Given the description of an element on the screen output the (x, y) to click on. 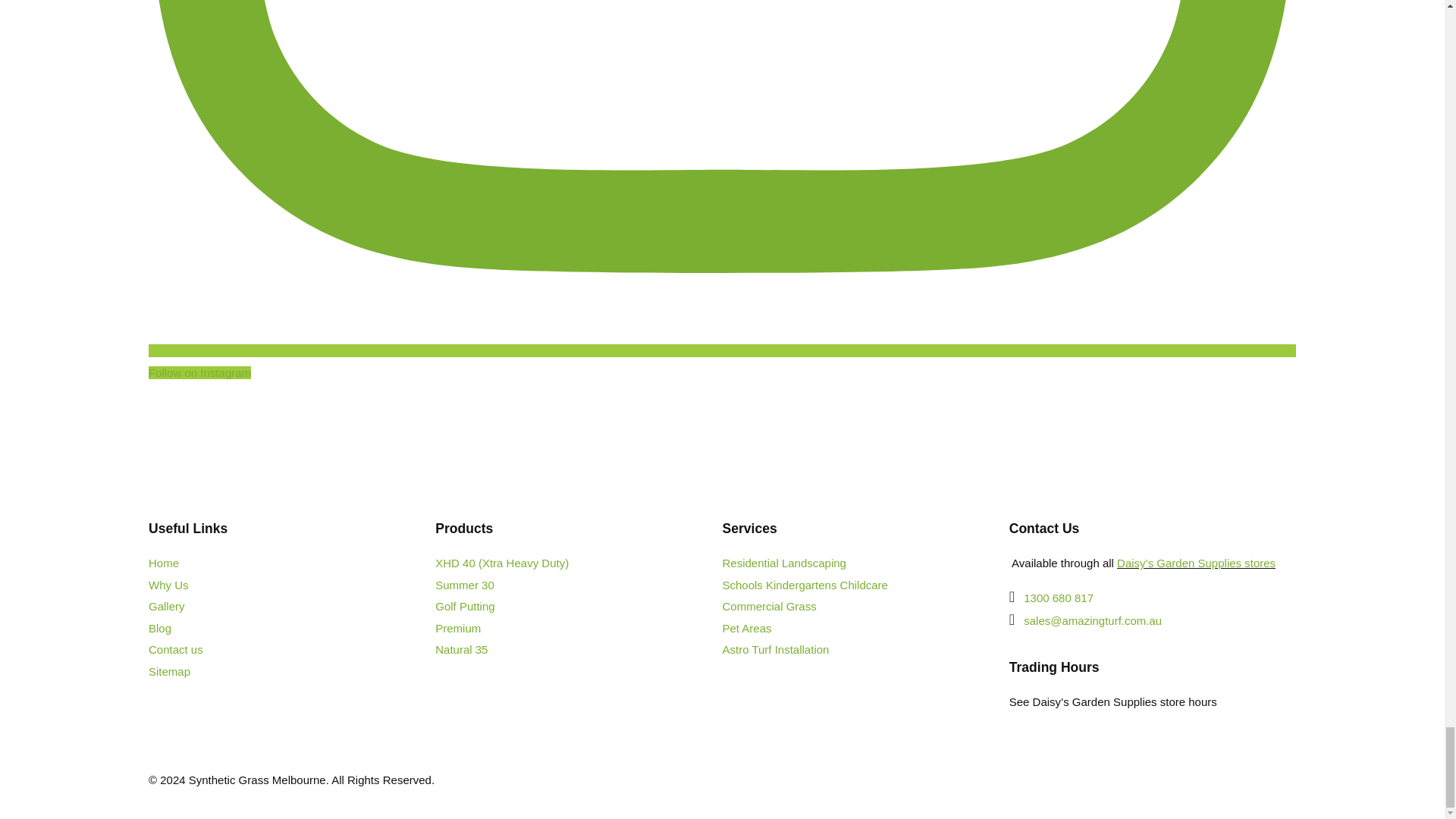
Home (163, 562)
Gallery (166, 605)
Follow on Instagram (721, 361)
Why Us (168, 584)
